Given the description of an element on the screen output the (x, y) to click on. 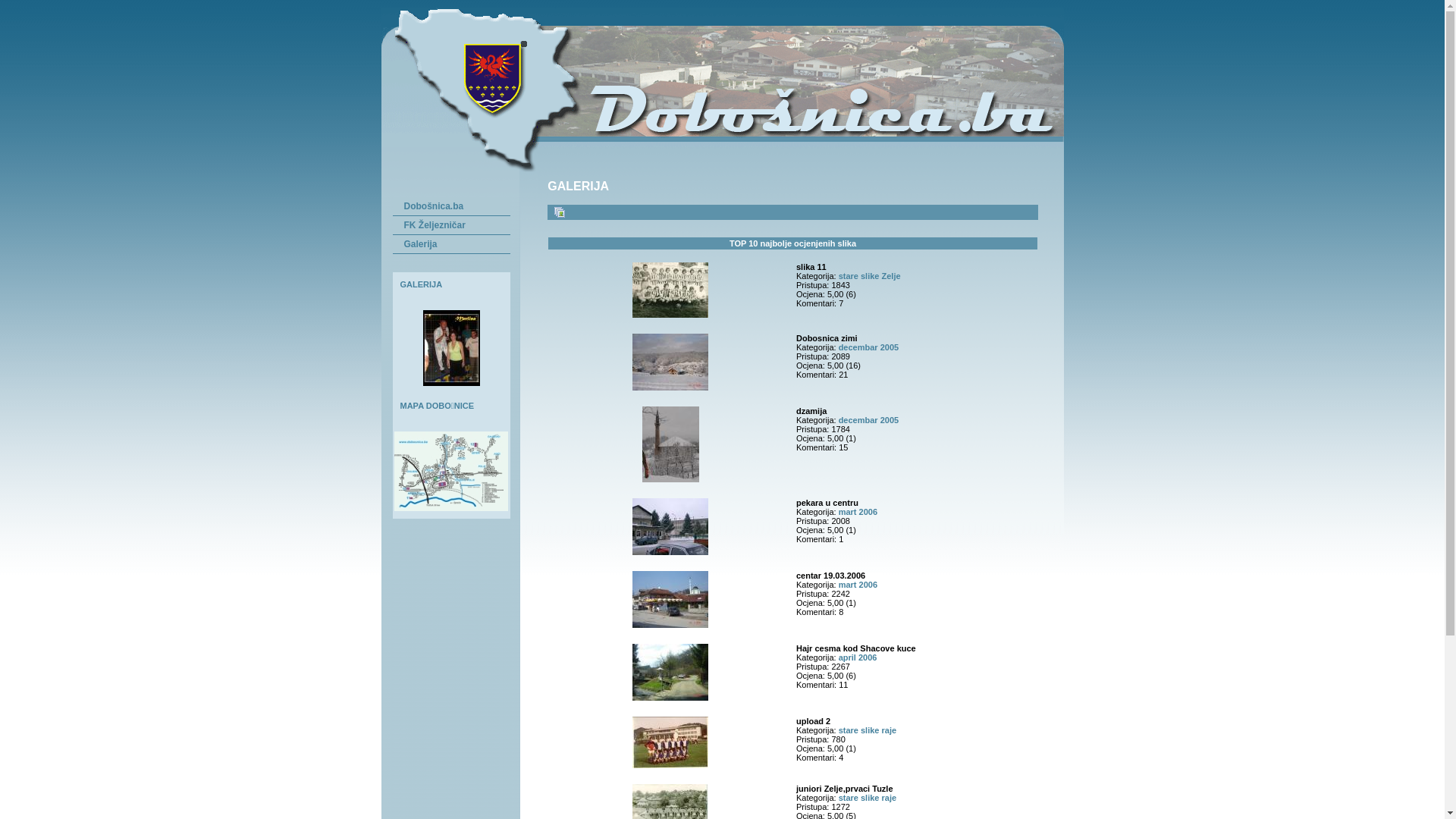
stare slike raje Element type: text (867, 729)
mart 2006 Element type: text (857, 584)
stare slike Zelje Element type: text (869, 275)
stare slike raje Element type: text (867, 797)
mart 2006 Element type: text (857, 511)
april 2006 Element type: text (857, 657)
decembar 2005 Element type: text (868, 419)
decembar 2005 Element type: text (868, 346)
Galerija Element type: text (455, 244)
